Given the description of an element on the screen output the (x, y) to click on. 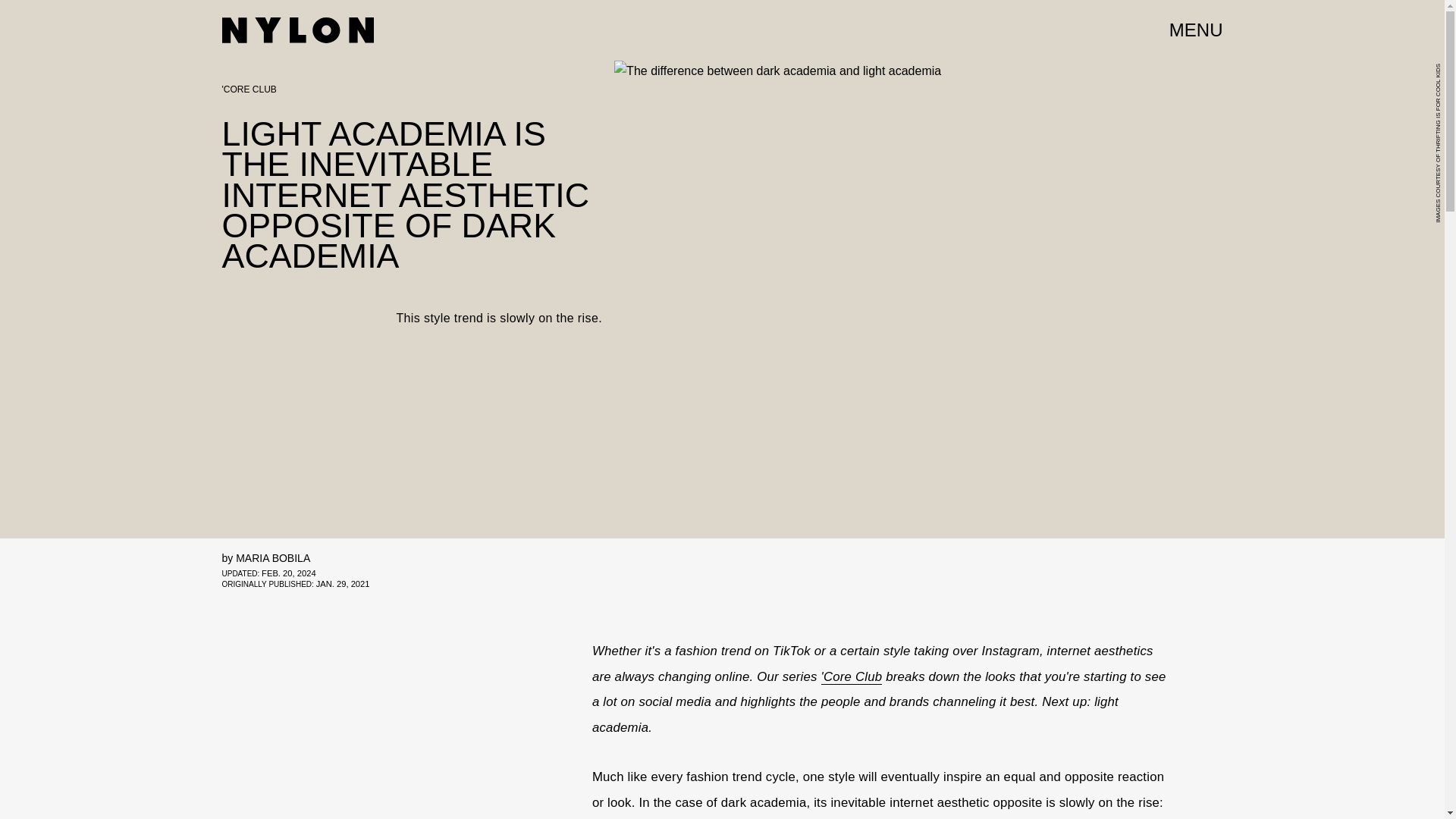
'Core Club (851, 676)
Nylon (296, 30)
MARIA BOBILA (272, 558)
